Given the description of an element on the screen output the (x, y) to click on. 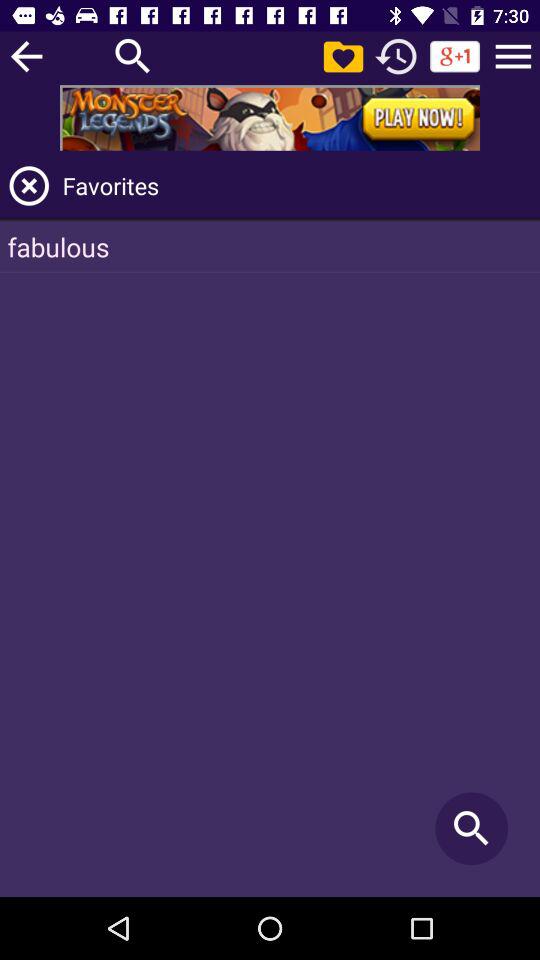
select the search option (133, 56)
